Given the description of an element on the screen output the (x, y) to click on. 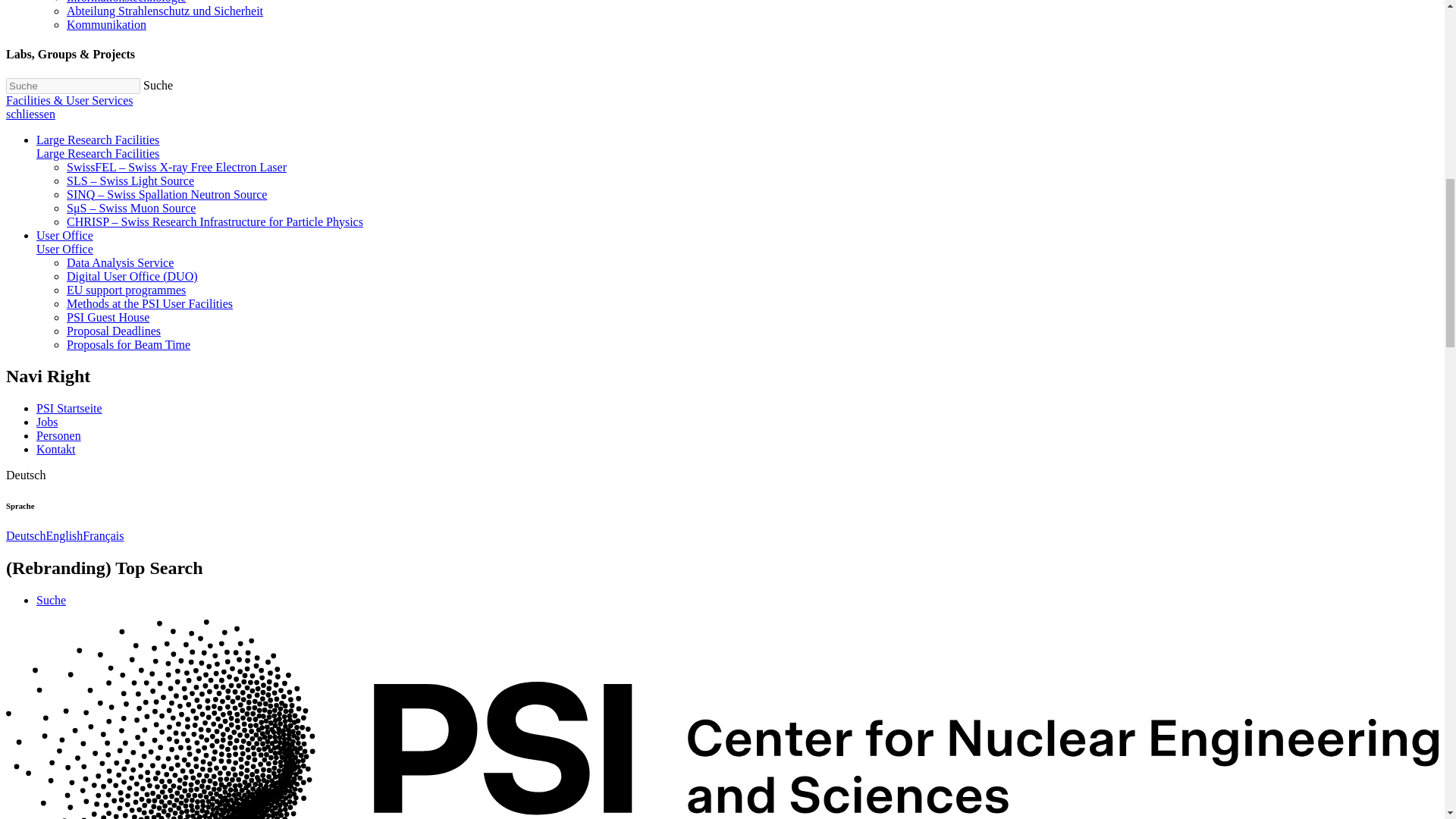
Change website language (25, 474)
